Given the description of an element on the screen output the (x, y) to click on. 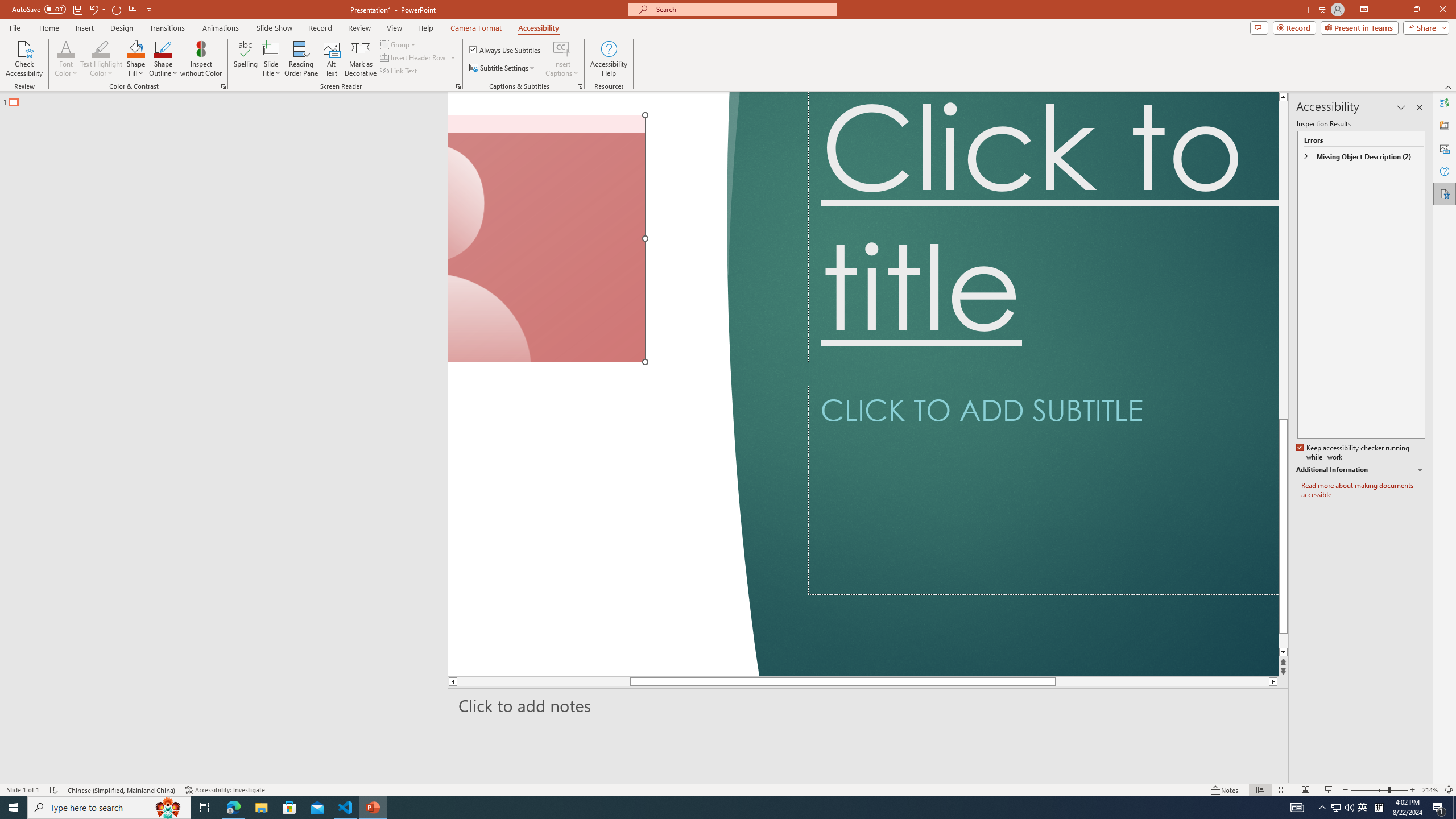
Inspect without Color (201, 58)
Camera Format (475, 28)
Slide Title (271, 58)
